Given the description of an element on the screen output the (x, y) to click on. 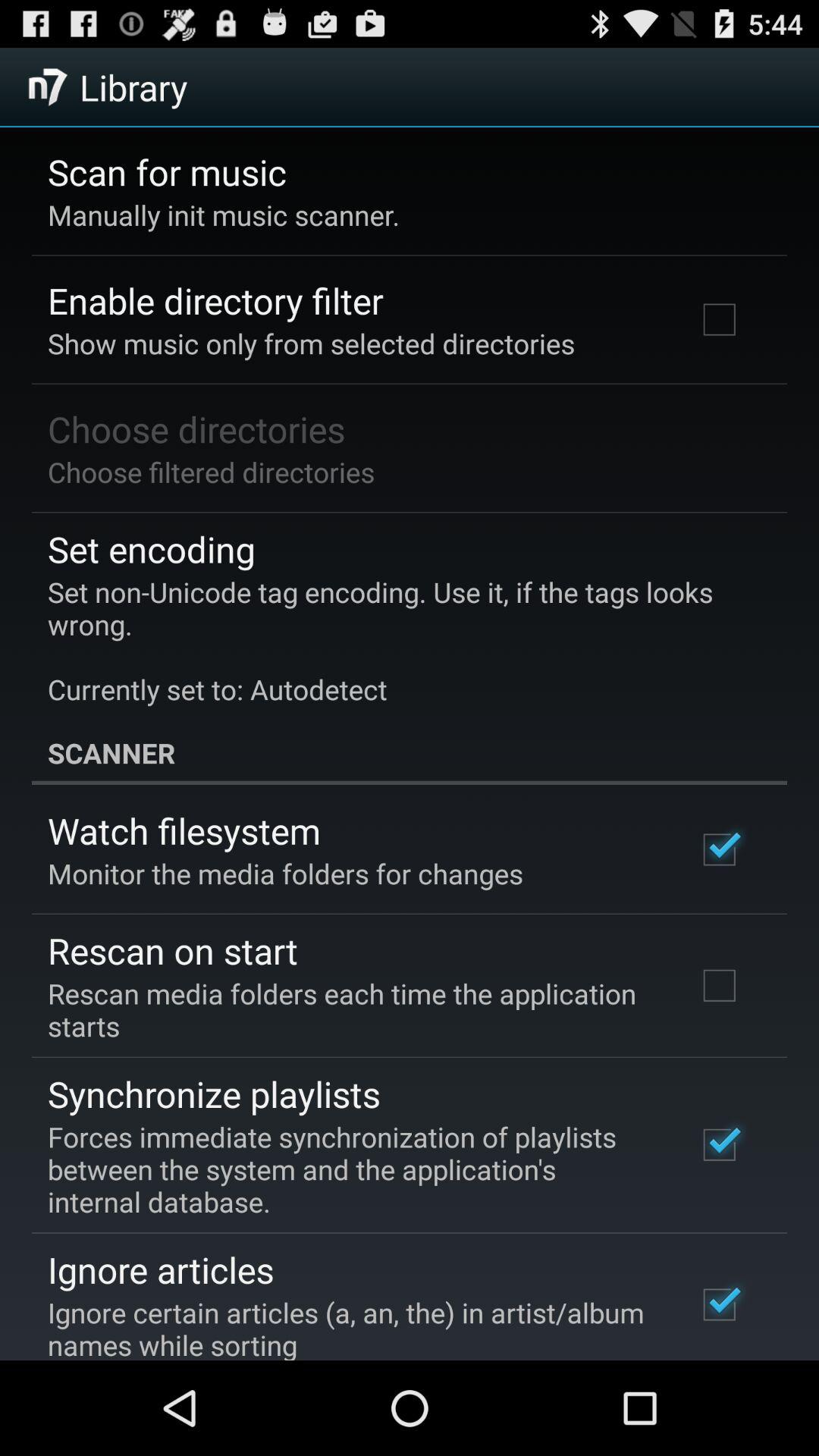
tap icon below manually init music icon (215, 300)
